Given the description of an element on the screen output the (x, y) to click on. 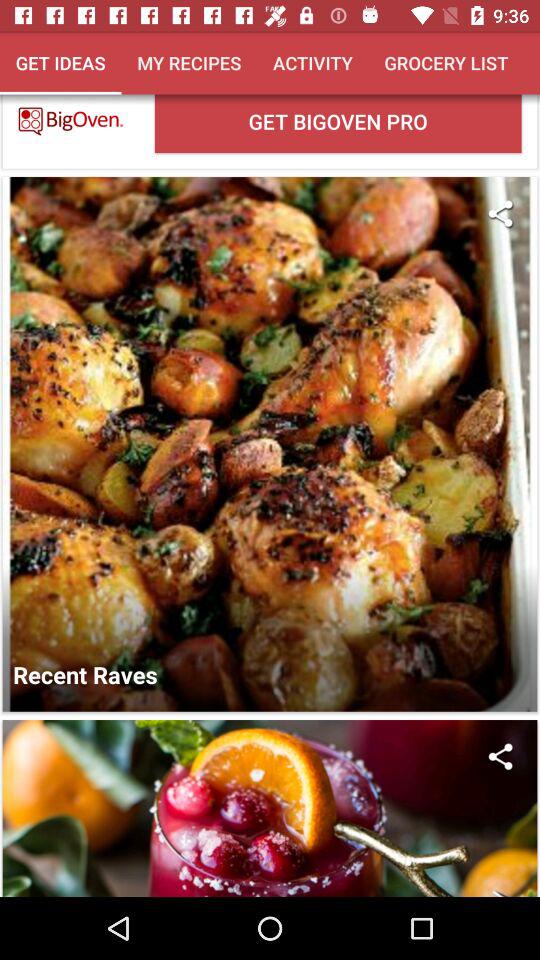
press the item below my recipes icon (337, 123)
